Given the description of an element on the screen output the (x, y) to click on. 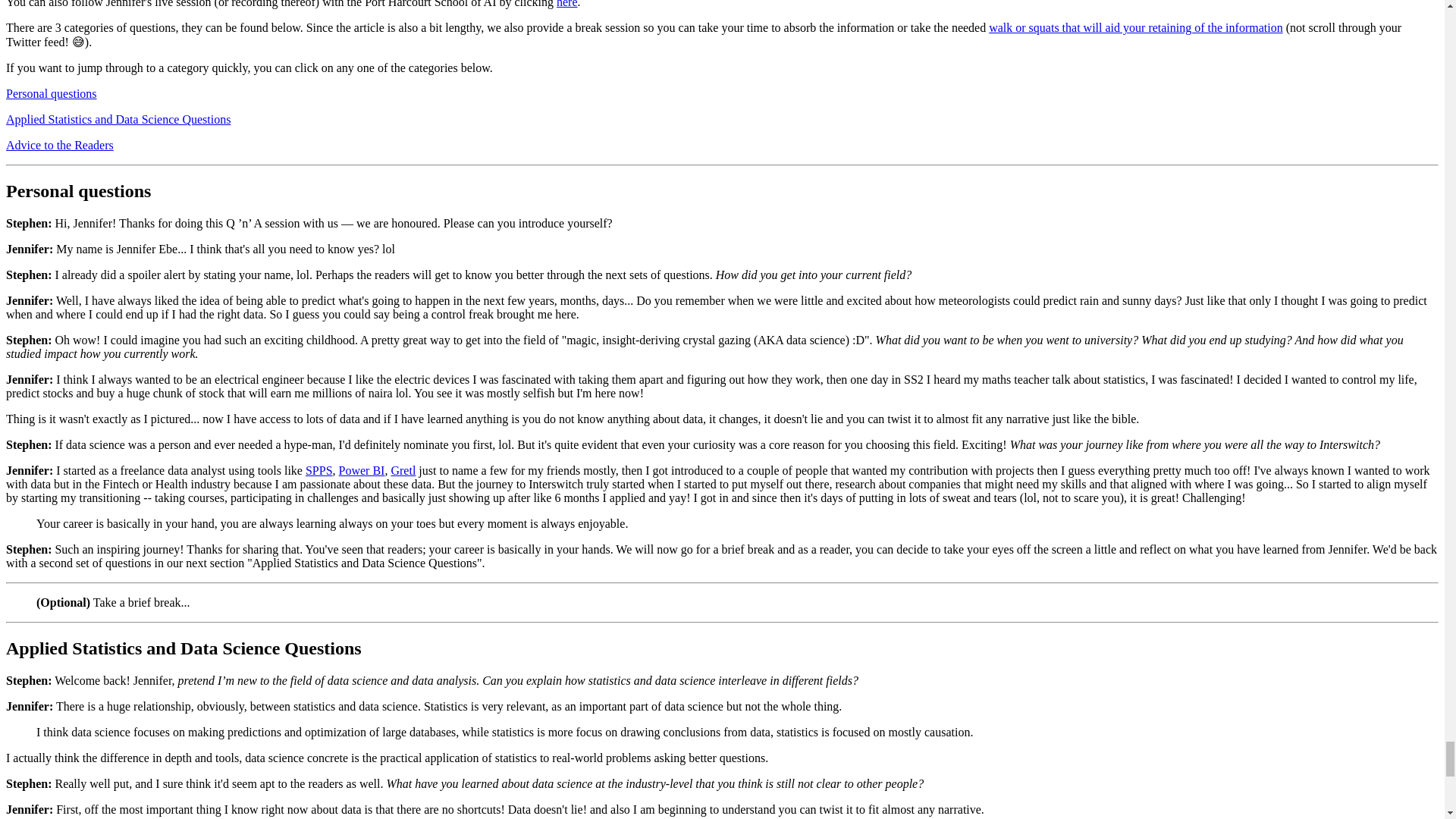
Gretl (402, 470)
SPPS (319, 470)
Applied Statistics and Data Science Questions (117, 119)
Power BI (362, 470)
here (567, 4)
Personal questions (51, 92)
Advice to the Readers (59, 144)
